Given the description of an element on the screen output the (x, y) to click on. 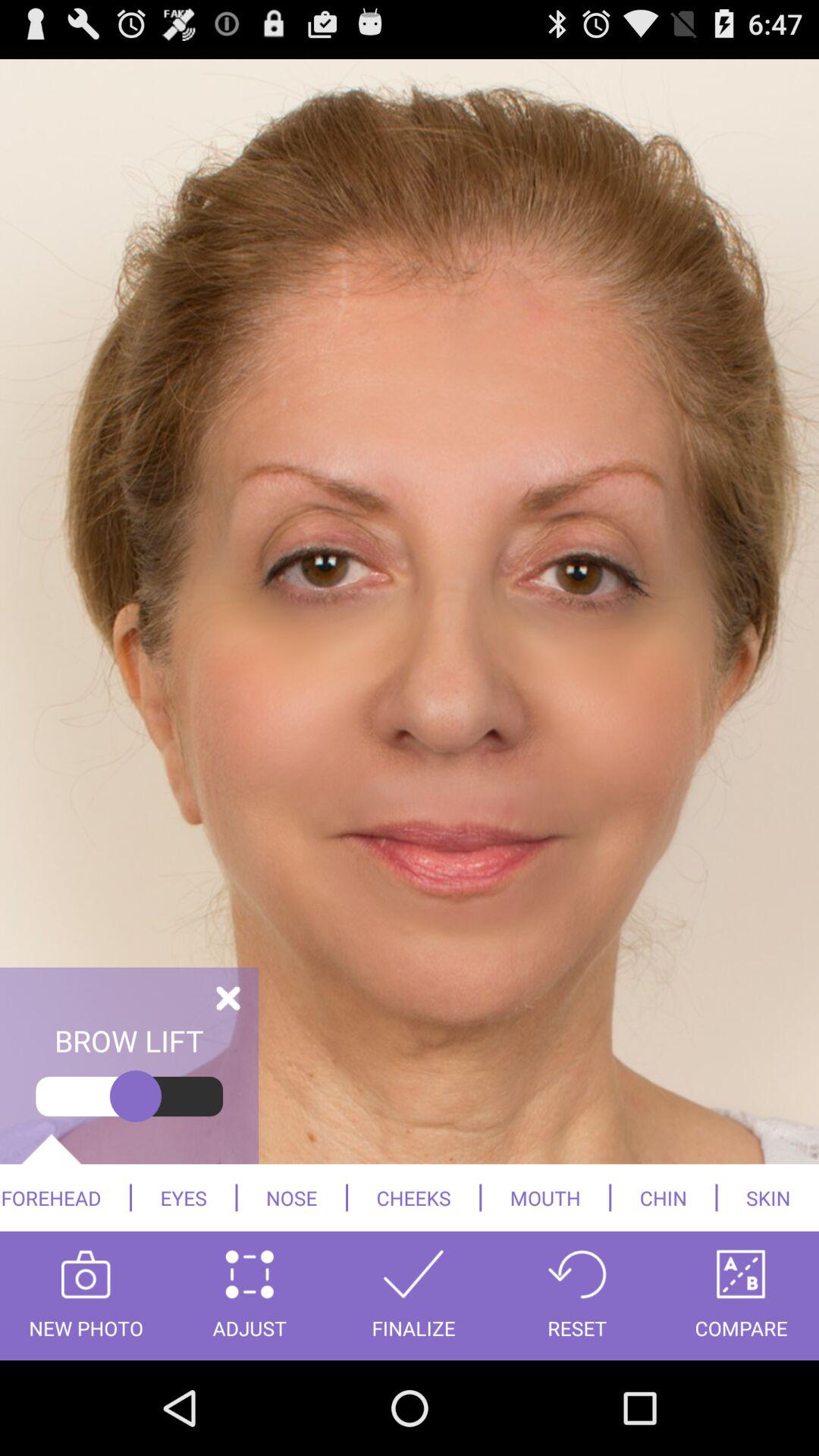
press the nose icon (291, 1197)
